Given the description of an element on the screen output the (x, y) to click on. 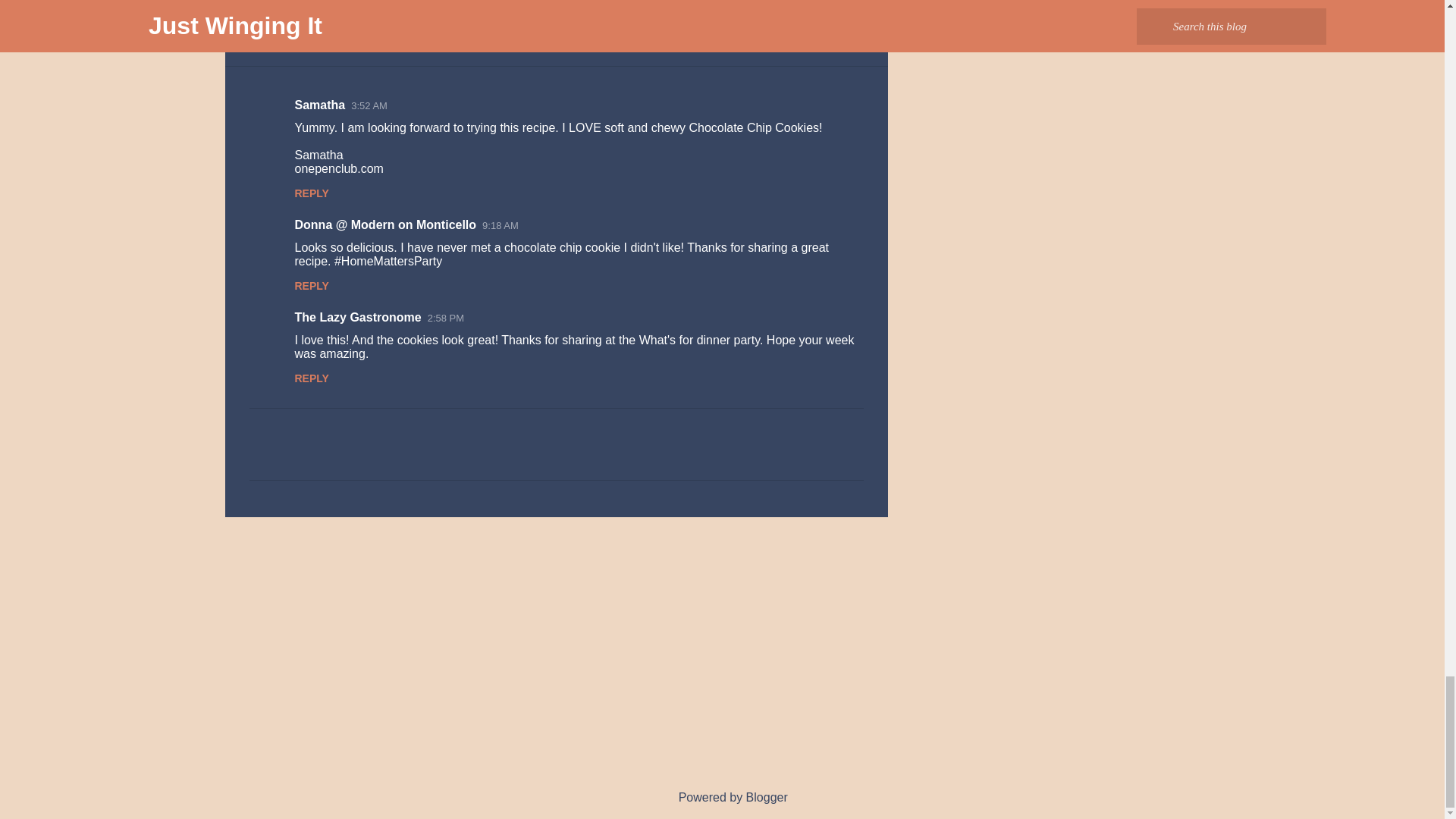
3:52 AM (368, 105)
REPLY (311, 285)
REPLY (311, 193)
9:18 AM (499, 225)
Samatha (319, 104)
